Given the description of an element on the screen output the (x, y) to click on. 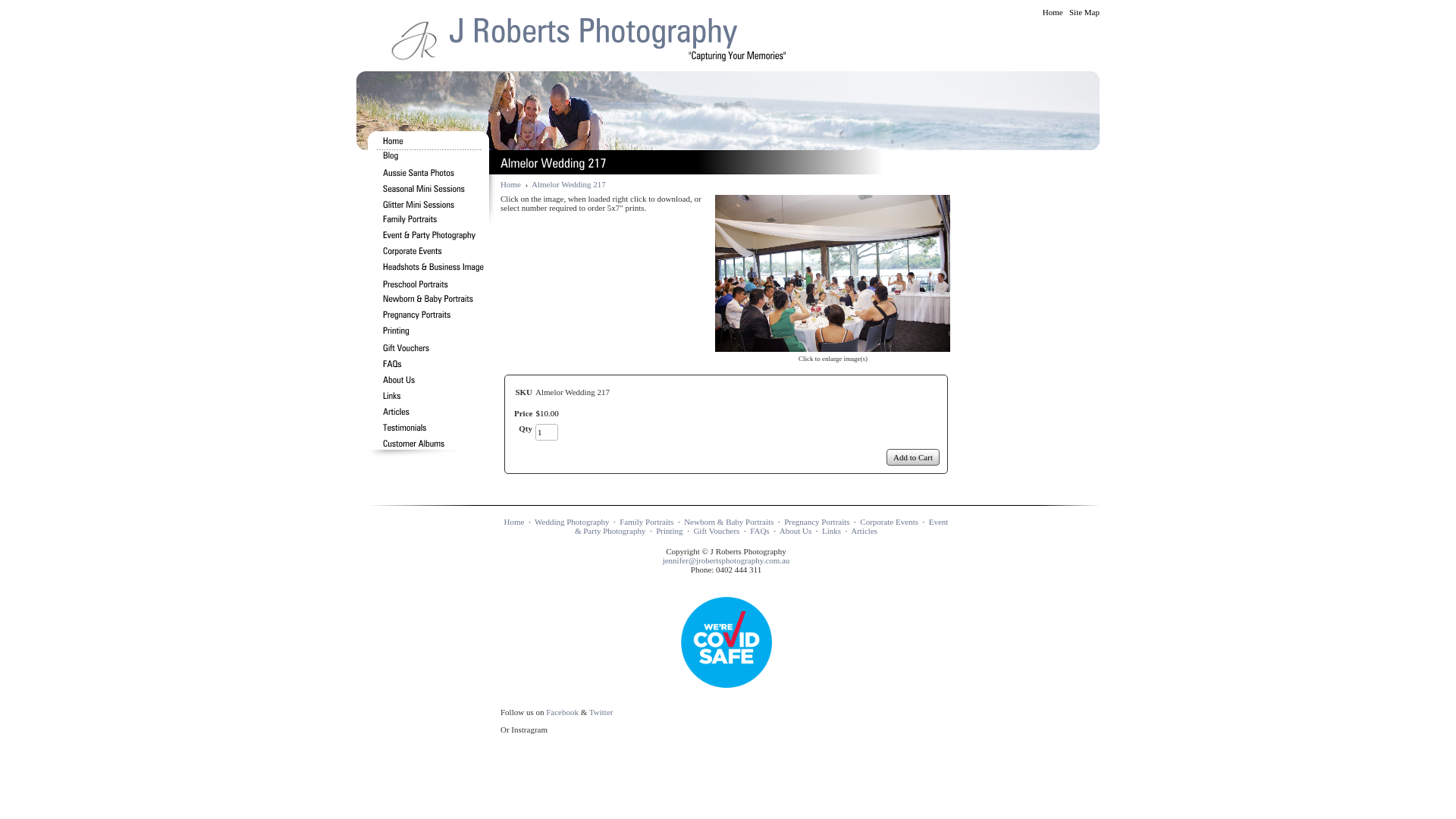
Home Element type: text (514, 521)
Printing Element type: text (668, 530)
Links Element type: text (831, 530)
Pregnancy Portraits Element type: text (816, 521)
Wedding Photography Element type: text (571, 521)
Almelor Wedding 217 Element type: hover (832, 272)
Articles Element type: text (863, 530)
Add to Cart Element type: text (912, 456)
Site Map Element type: text (1084, 11)
About Us Element type: text (795, 530)
Home Element type: text (1052, 11)
Corporate Events Element type: text (888, 521)
Almelor Wedding 217 Element type: text (568, 183)
jennifer@jrobertsphotography.com.au Element type: text (726, 559)
Home Element type: text (510, 183)
FAQs Element type: text (758, 530)
Newborn & Baby Portraits Element type: text (728, 521)
Facebook Element type: text (562, 711)
Event & Party Photography Element type: text (761, 526)
Twitter Element type: text (601, 711)
Family Portraits Element type: text (646, 521)
Gift Vouchers Element type: text (716, 530)
Almelor Wedding 217 Element type: hover (832, 346)
